Given the description of an element on the screen output the (x, y) to click on. 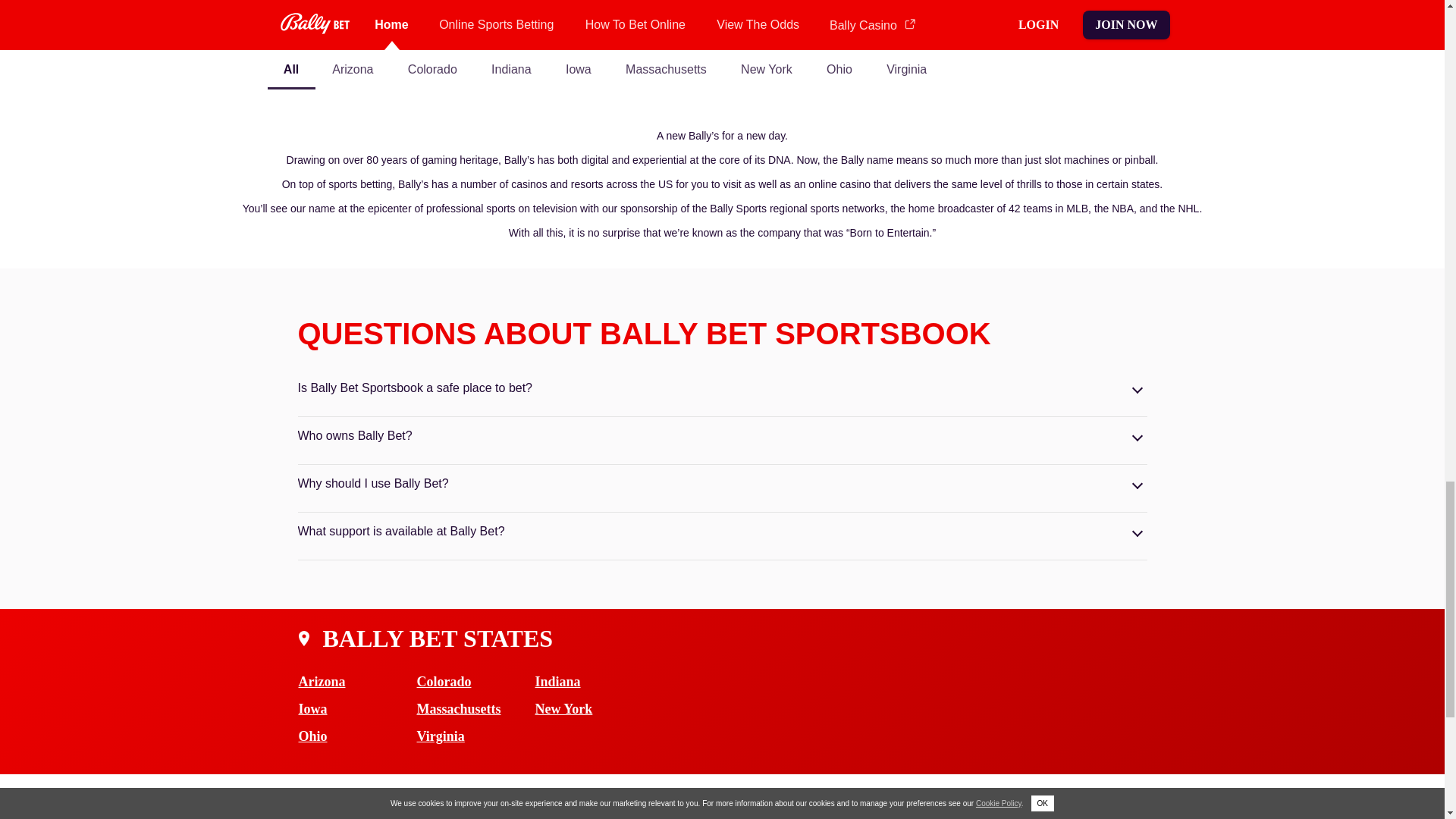
Arizona (357, 681)
Ohio (357, 735)
Colorado (475, 681)
Iowa (357, 708)
Virginia (475, 735)
New York (594, 708)
Massachusetts (475, 708)
Indiana (594, 681)
